Given the description of an element on the screen output the (x, y) to click on. 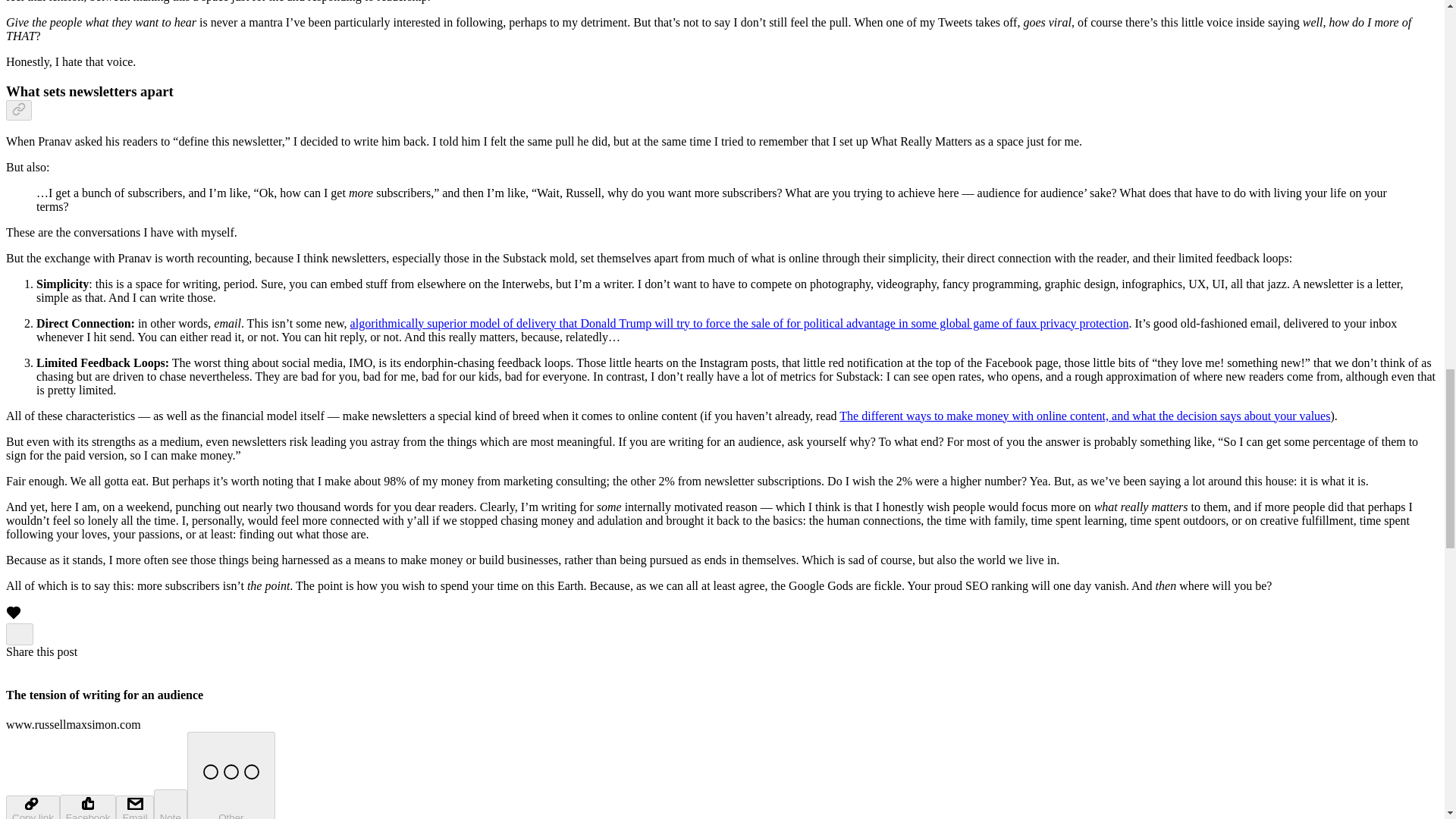
Email (134, 807)
Copy link (32, 807)
Facebook (87, 806)
